Given the description of an element on the screen output the (x, y) to click on. 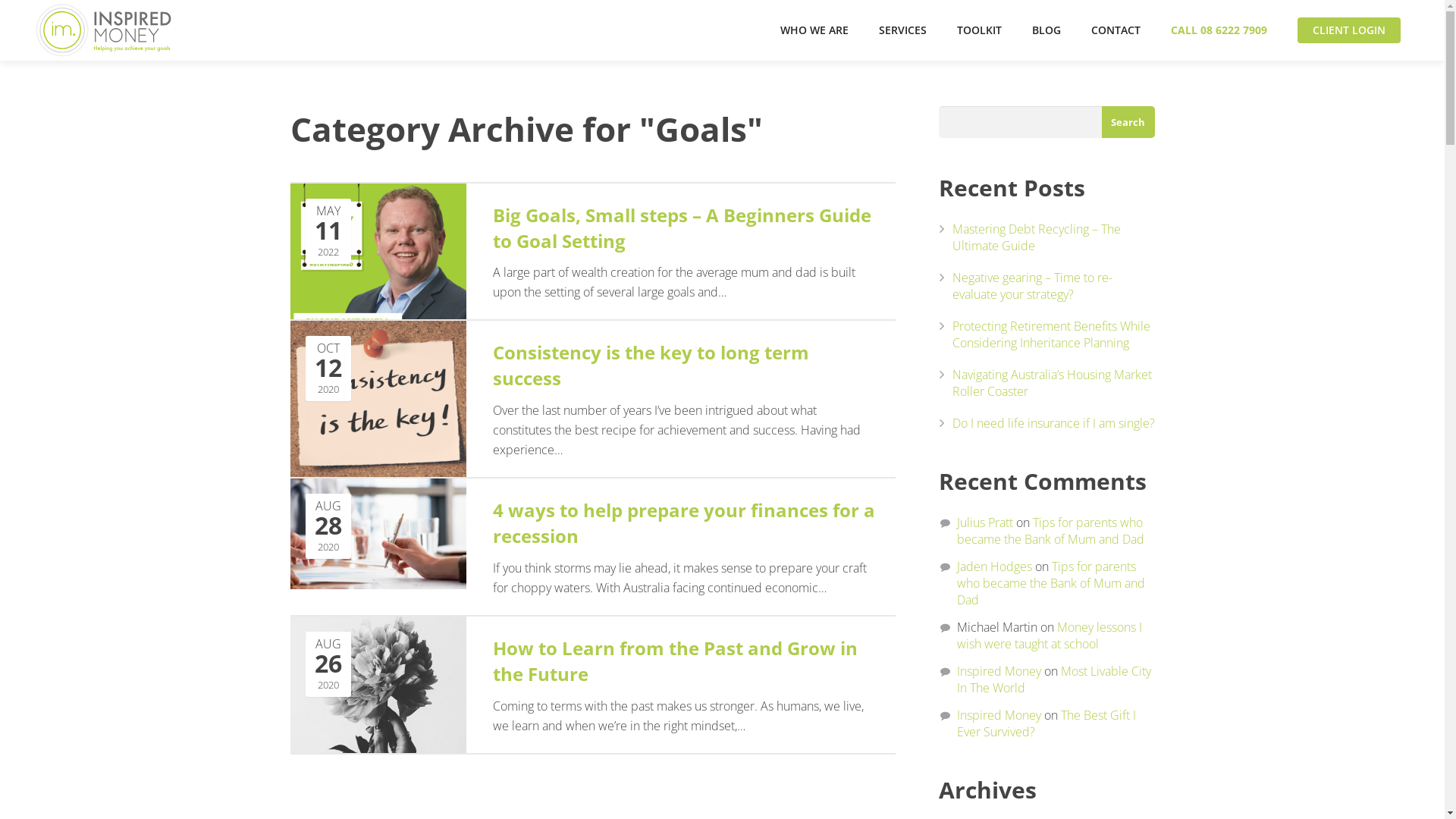
Search Element type: text (1127, 122)
Inspired Money Element type: text (999, 670)
CONTACT Element type: text (1115, 30)
Most Livable City In The World Element type: text (1054, 679)
Search Element type: text (528, 597)
Tips for parents who became the Bank of Mum and Dad Element type: text (1050, 530)
TOOLKIT Element type: text (978, 30)
Privacy Policy Element type: text (512, 792)
Julius Pratt Element type: text (985, 522)
CLIENT LOGIN Element type: text (1348, 30)
Download Element type: text (312, 690)
Money lessons I wish were taught at school Element type: text (1049, 635)
Tips for parents who became the Bank of Mum and Dad Element type: text (1051, 583)
SERVICES Element type: text (902, 30)
admin@inspiredmoney.com.au Element type: text (701, 671)
Do I need life insurance if I am single? Element type: text (1053, 422)
CALL 08 6222 7909 Element type: text (1218, 30)
The Best Gift I Ever Survived? Element type: text (1046, 723)
WHO WE ARE Element type: text (814, 30)
Inspired Money Element type: text (999, 714)
How to Learn from the Past and Grow in the Future Element type: text (582, 651)
4 ways to help prepare your finances for a recession Element type: text (582, 513)
BLOG Element type: text (1046, 30)
Consistency is the key to long term success Element type: text (582, 355)
Complaints Handling Policy Element type: text (736, 792)
General Advice Disclaimer Element type: text (610, 792)
Jaden Hodges Element type: text (994, 566)
